Given the description of an element on the screen output the (x, y) to click on. 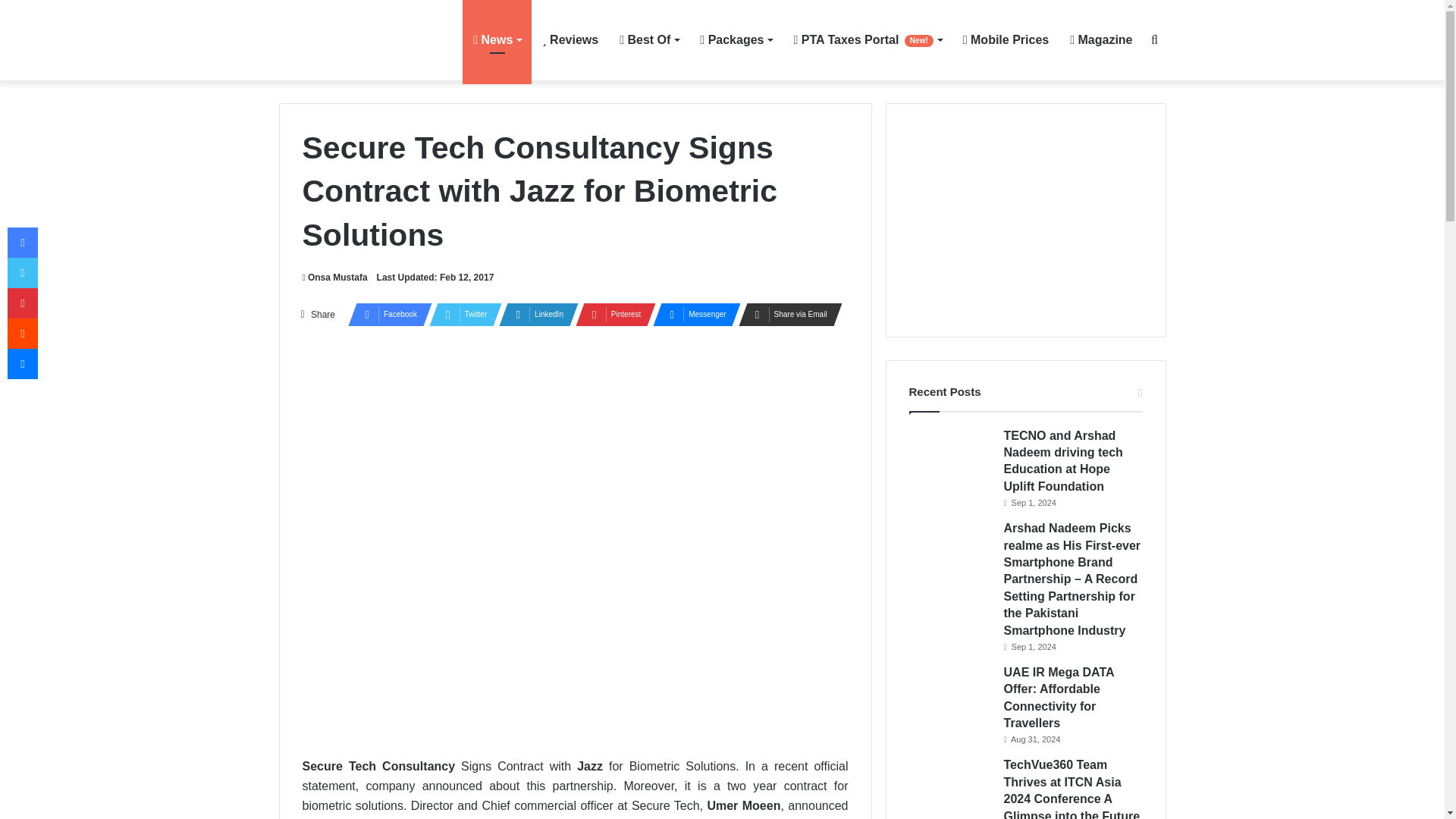
PTA Taxes Portal New! (867, 40)
Mobile Prices (1005, 40)
Facebook (385, 314)
Share via Email (785, 314)
Twitter (461, 314)
Packages (735, 40)
LinkedIn (534, 314)
Messenger (692, 314)
Onsa Mustafa (333, 276)
Best Of (648, 40)
